Given the description of an element on the screen output the (x, y) to click on. 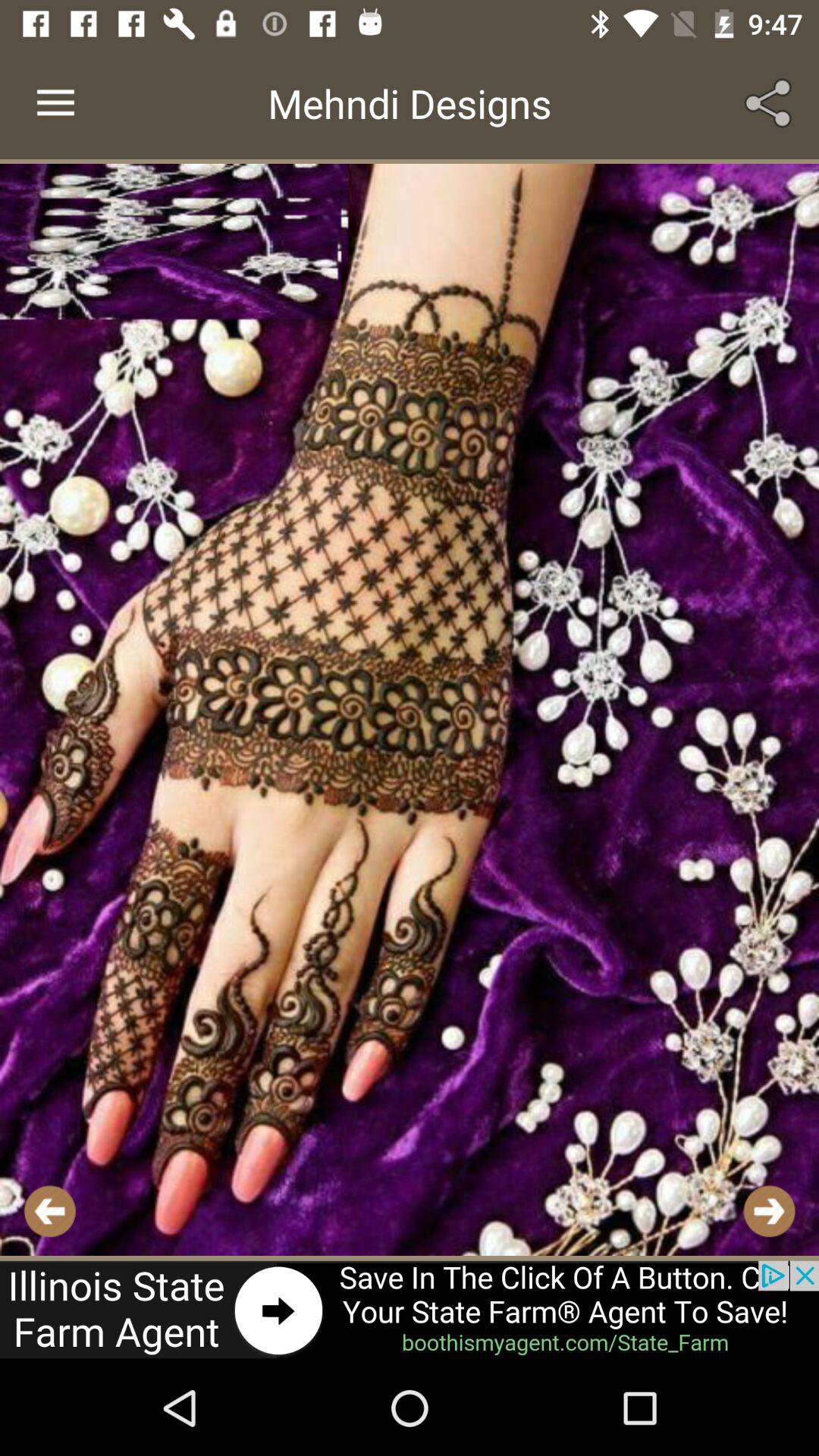
go to previous (49, 1210)
